Given the description of an element on the screen output the (x, y) to click on. 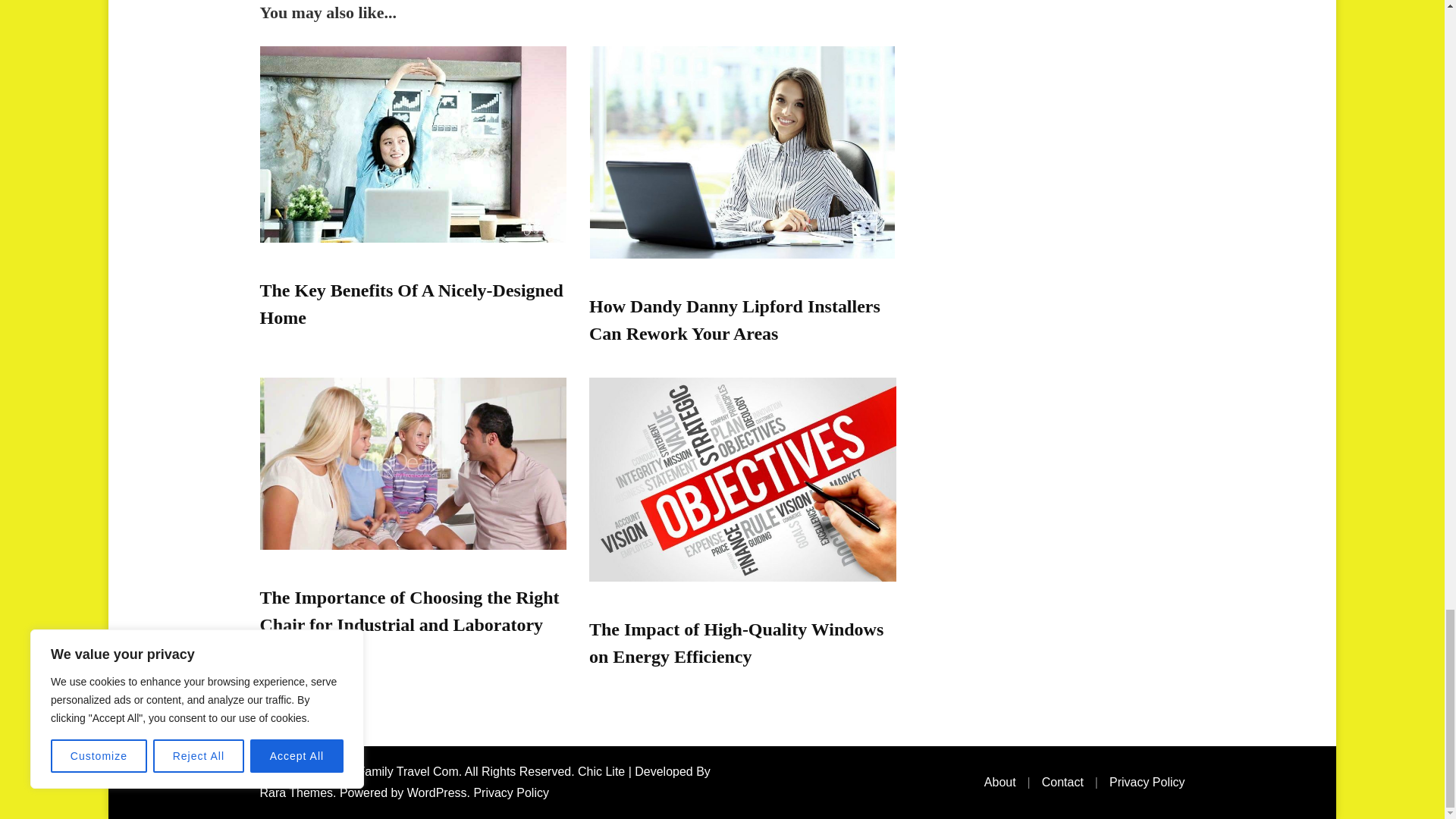
The Key Benefits Of A Nicely-Designed Home (410, 303)
